Given the description of an element on the screen output the (x, y) to click on. 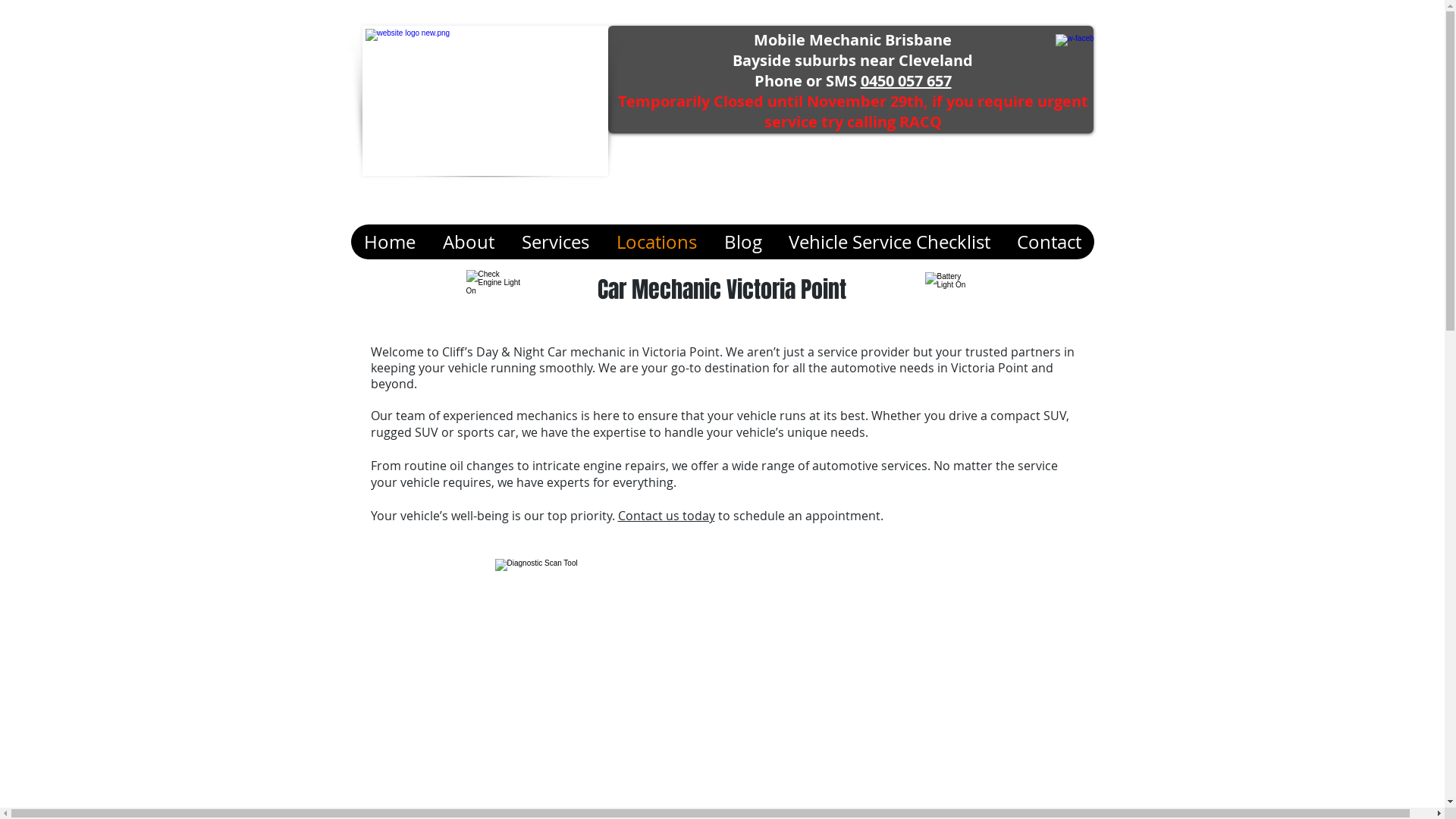
Battery Light Element type: hover (949, 288)
Vehicle Service Checklist Element type: text (889, 241)
Contact us today Element type: text (665, 515)
Our professional Diagnostic Scan Tool Element type: hover (721, 687)
Our Logo Element type: hover (485, 100)
0450 057 657 Element type: text (904, 80)
Check Engine Light Element type: hover (493, 288)
Blog Element type: text (741, 241)
Contact Element type: text (1047, 241)
About Element type: text (468, 241)
Services Element type: text (555, 241)
Locations Element type: text (655, 241)
Home Element type: text (389, 241)
